Given the description of an element on the screen output the (x, y) to click on. 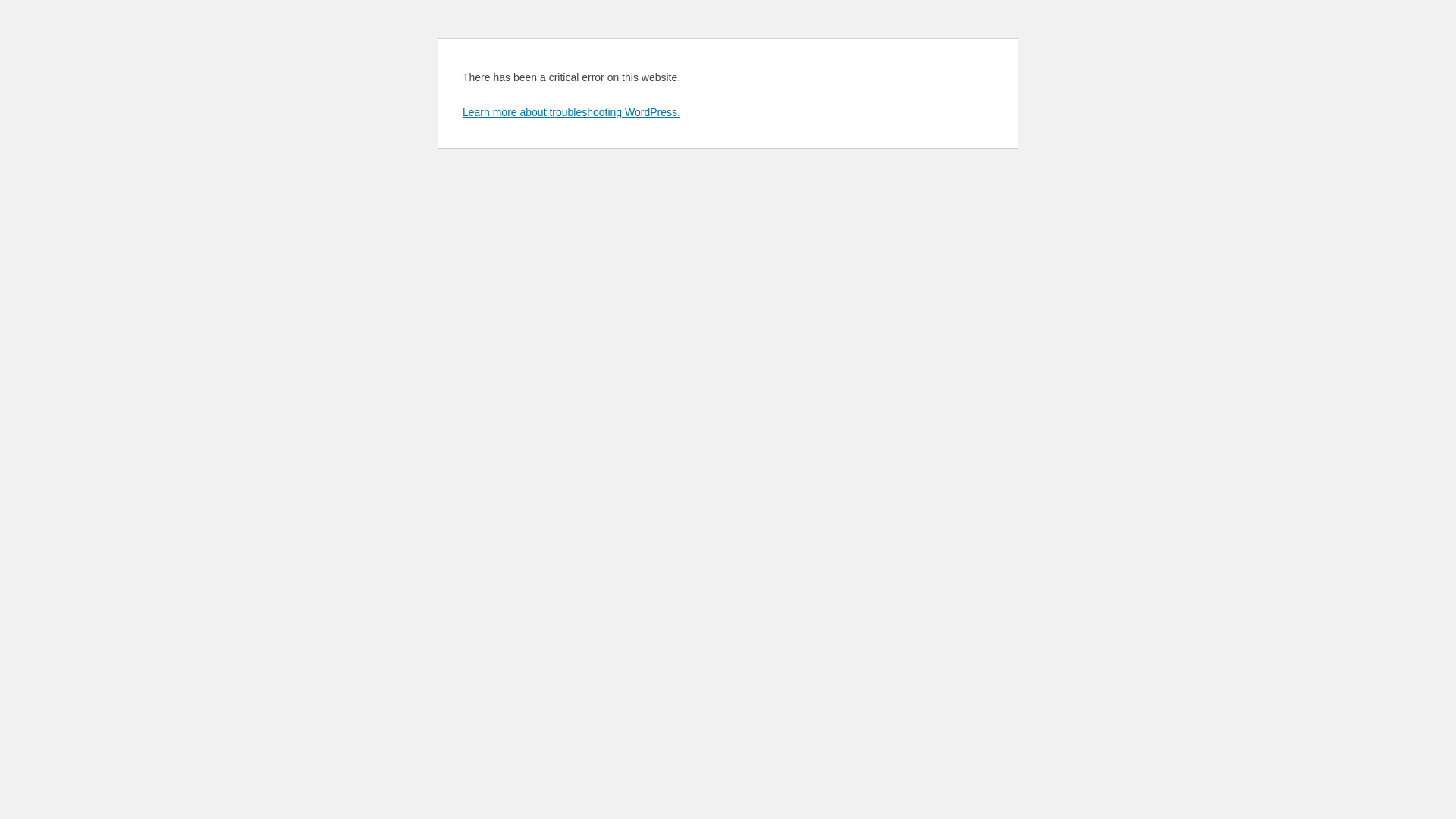
Learn more about troubleshooting WordPress. Element type: text (571, 112)
